Given the description of an element on the screen output the (x, y) to click on. 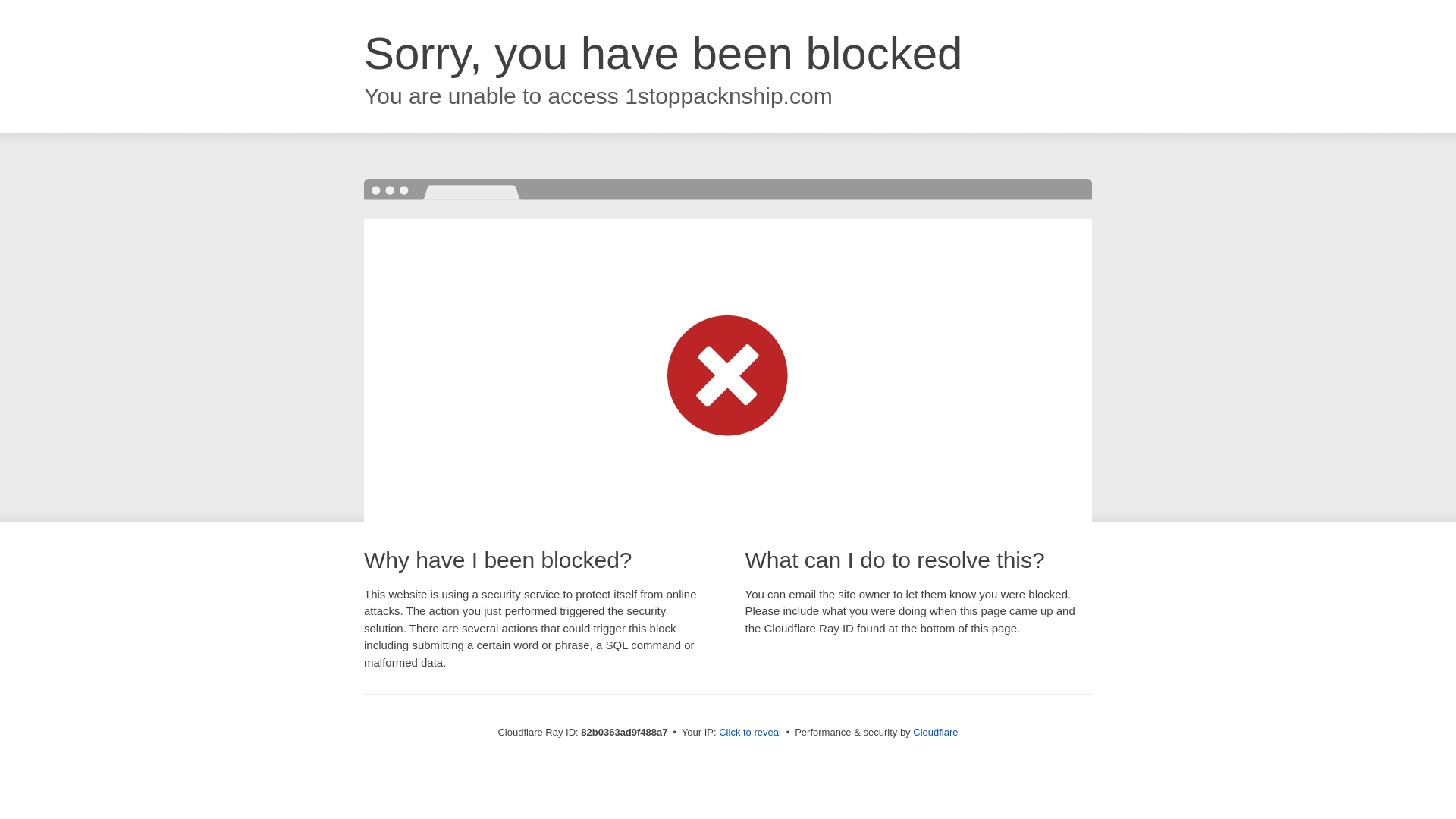
Click to reveal Element type: text (749, 732)
Cloudflare Element type: text (935, 731)
